Given the description of an element on the screen output the (x, y) to click on. 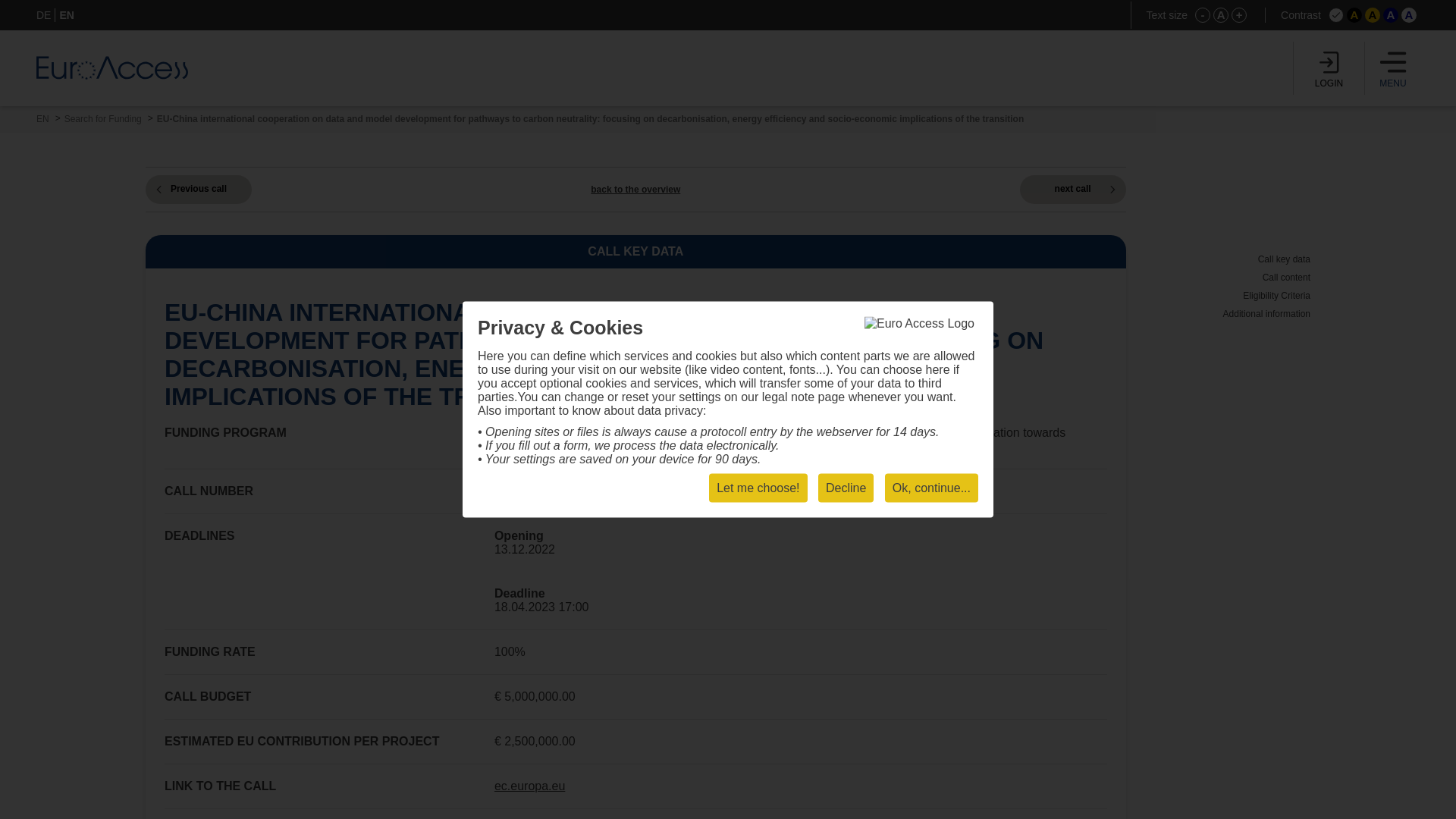
A (1353, 14)
Zur Startseite (111, 67)
A (1372, 14)
EN (66, 15)
Search for Funding (102, 118)
EN (42, 118)
A (1408, 14)
Yellow on black (1353, 14)
DE (43, 15)
EN (42, 118)
Black on yellow (1372, 14)
Blue on white (1408, 14)
- (1202, 14)
White on blue (1390, 14)
A (1220, 14)
